Given the description of an element on the screen output the (x, y) to click on. 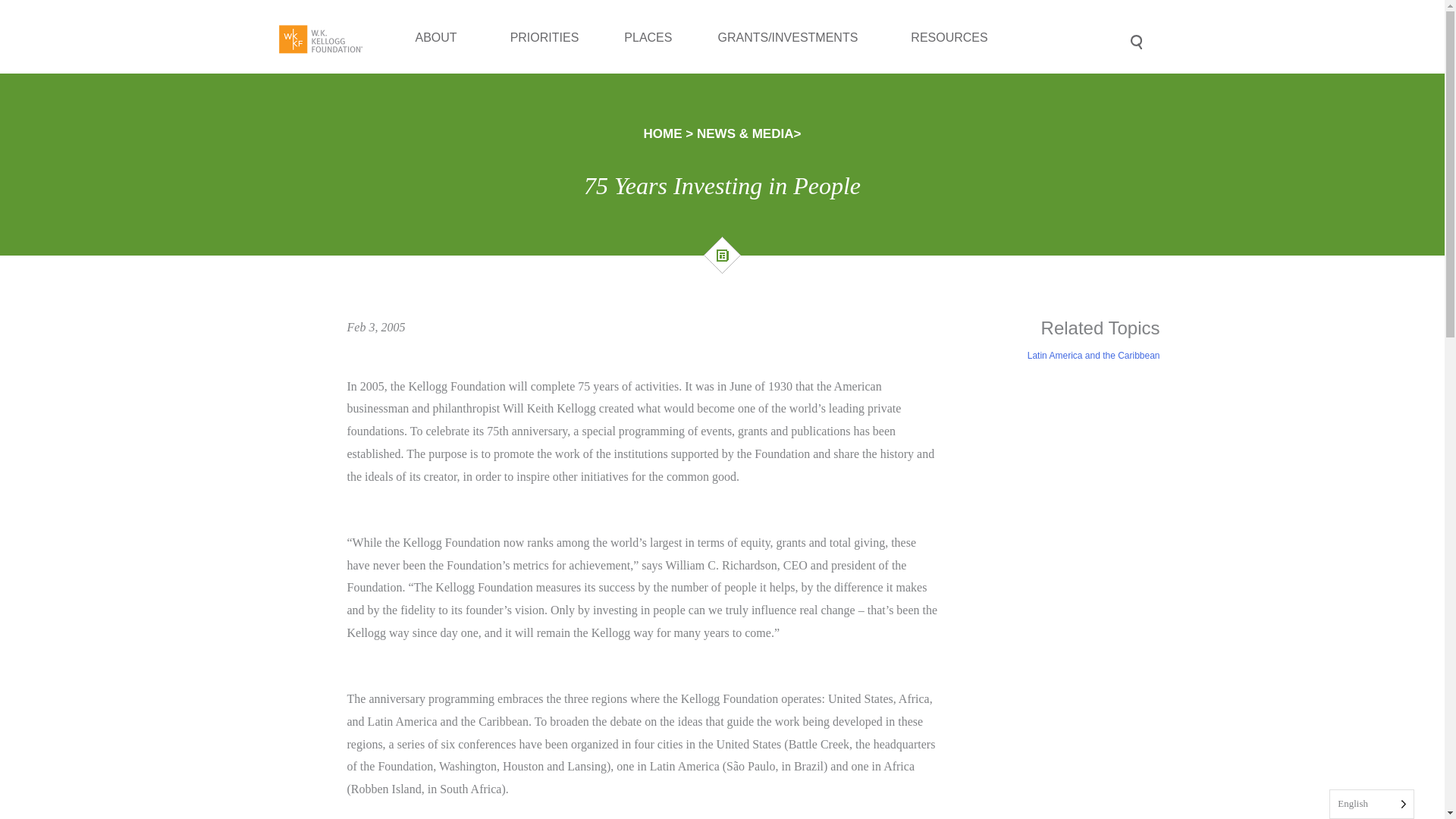
ABOUT (440, 94)
RESOURCES (952, 45)
PLACES (647, 64)
PRIORITIES (544, 68)
